Given the description of an element on the screen output the (x, y) to click on. 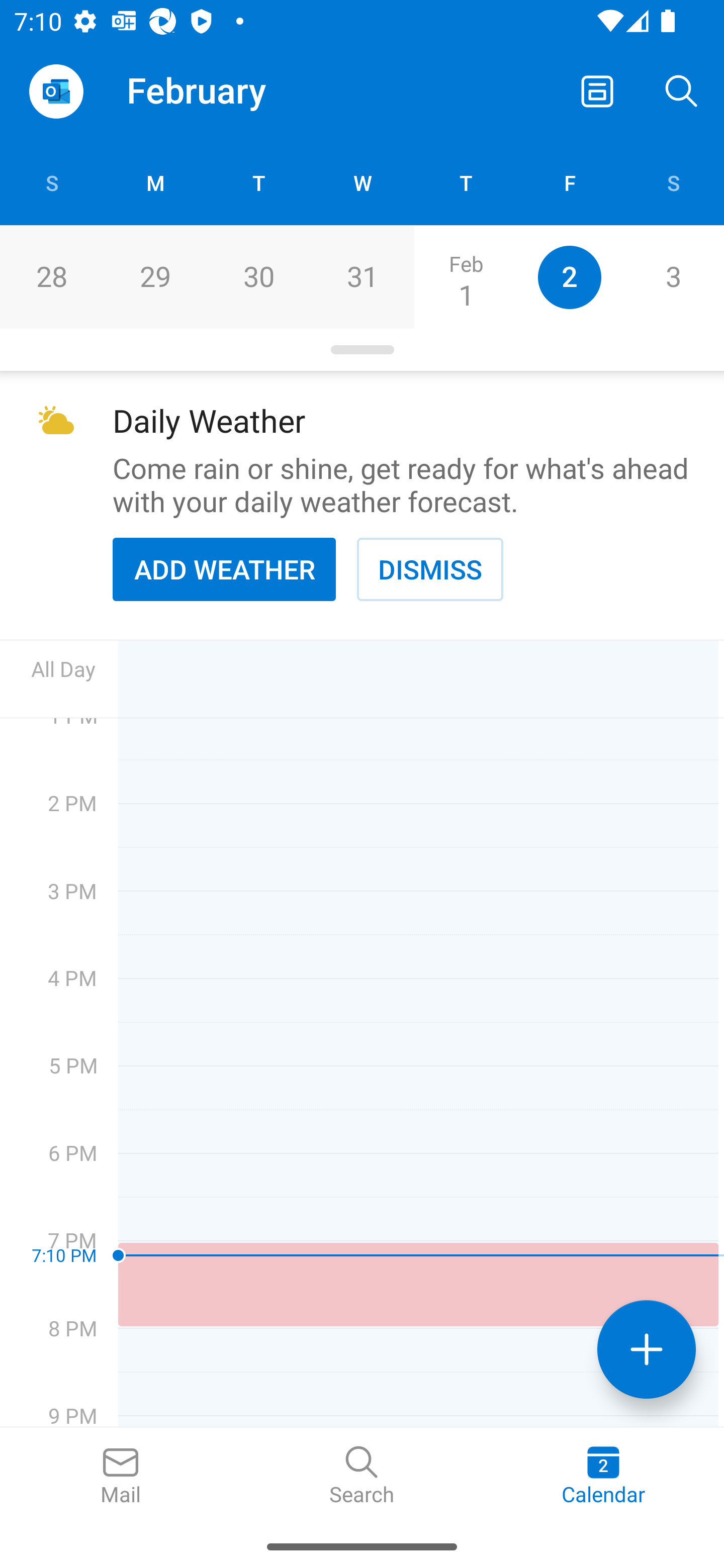
February February 2024, day picker expand (209, 90)
Switch away from Day view (597, 90)
Search (681, 90)
Open Navigation Drawer (55, 91)
28 Sunday, January 28 (51, 277)
29 Monday, January 29 (155, 277)
30 Tuesday, January 30 (258, 277)
31 Wednesday, January 31 (362, 277)
Feb
1 Thursday, February 1 (465, 277)
2 Friday, February 2, today, Selected (569, 277)
3 Saturday, February 3 (672, 277)
Day picker expand (362, 350)
ADD WEATHER (224, 568)
DISMISS (429, 568)
Add new event (646, 1348)
Mail (120, 1475)
Search (361, 1475)
